Given the description of an element on the screen output the (x, y) to click on. 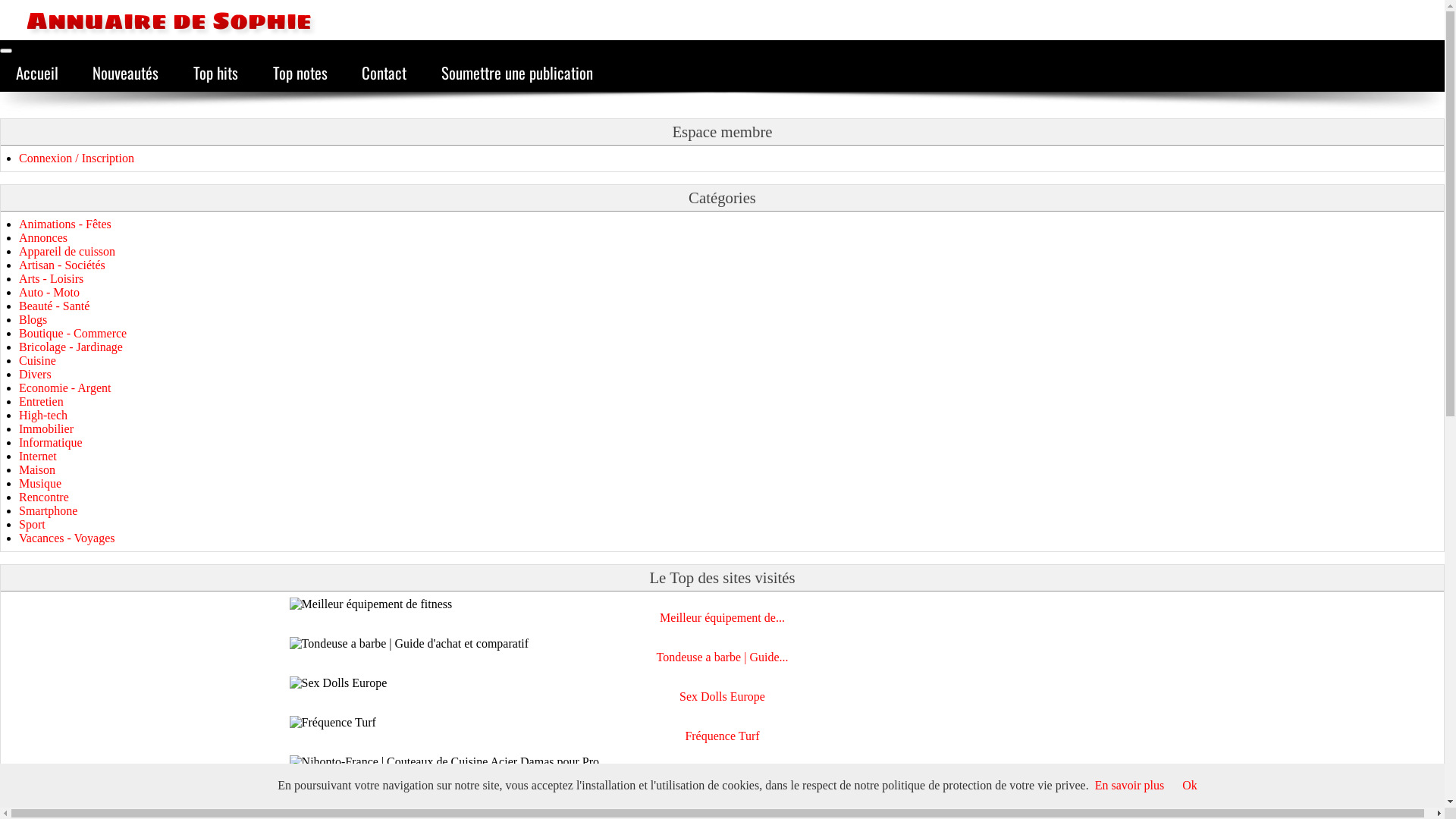
Entretien Element type: text (40, 401)
Informatique Element type: text (50, 442)
Immobilier Element type: text (45, 428)
Soumettre une publication Element type: text (516, 72)
Bricolage - Jardinage Element type: text (70, 346)
En savoir plus Element type: text (1129, 784)
Annuaire de Sophie Element type: text (155, 20)
Rencontre Element type: text (43, 496)
Arts - Loisirs Element type: text (50, 278)
Appareil de cuisson Element type: text (66, 250)
Connexion / Inscription Element type: text (76, 157)
Cuisine Element type: text (37, 360)
Toggle navigation Element type: text (6, 50)
Top notes Element type: text (300, 72)
Contact Element type: text (383, 72)
Economie - Argent Element type: text (64, 387)
Smartphone Element type: text (47, 510)
Boutique - Commerce Element type: text (72, 332)
Top hits Element type: text (215, 72)
Internet Element type: text (37, 455)
Divers Element type: text (34, 373)
Maison Element type: text (36, 469)
Blogs Element type: text (32, 319)
Accueil Element type: text (37, 72)
Tondeuse a barbe | Guide... Element type: text (721, 657)
Sport Element type: text (31, 523)
Nihonto-France | Couteaux... Element type: text (722, 775)
Sex Dolls Europe Element type: text (722, 696)
Ok Element type: text (1189, 784)
Vacances - Voyages Element type: text (66, 537)
Annonces Element type: text (42, 237)
High-tech Element type: text (42, 414)
Musique Element type: text (39, 482)
Auto - Moto Element type: text (48, 291)
